Given the description of an element on the screen output the (x, y) to click on. 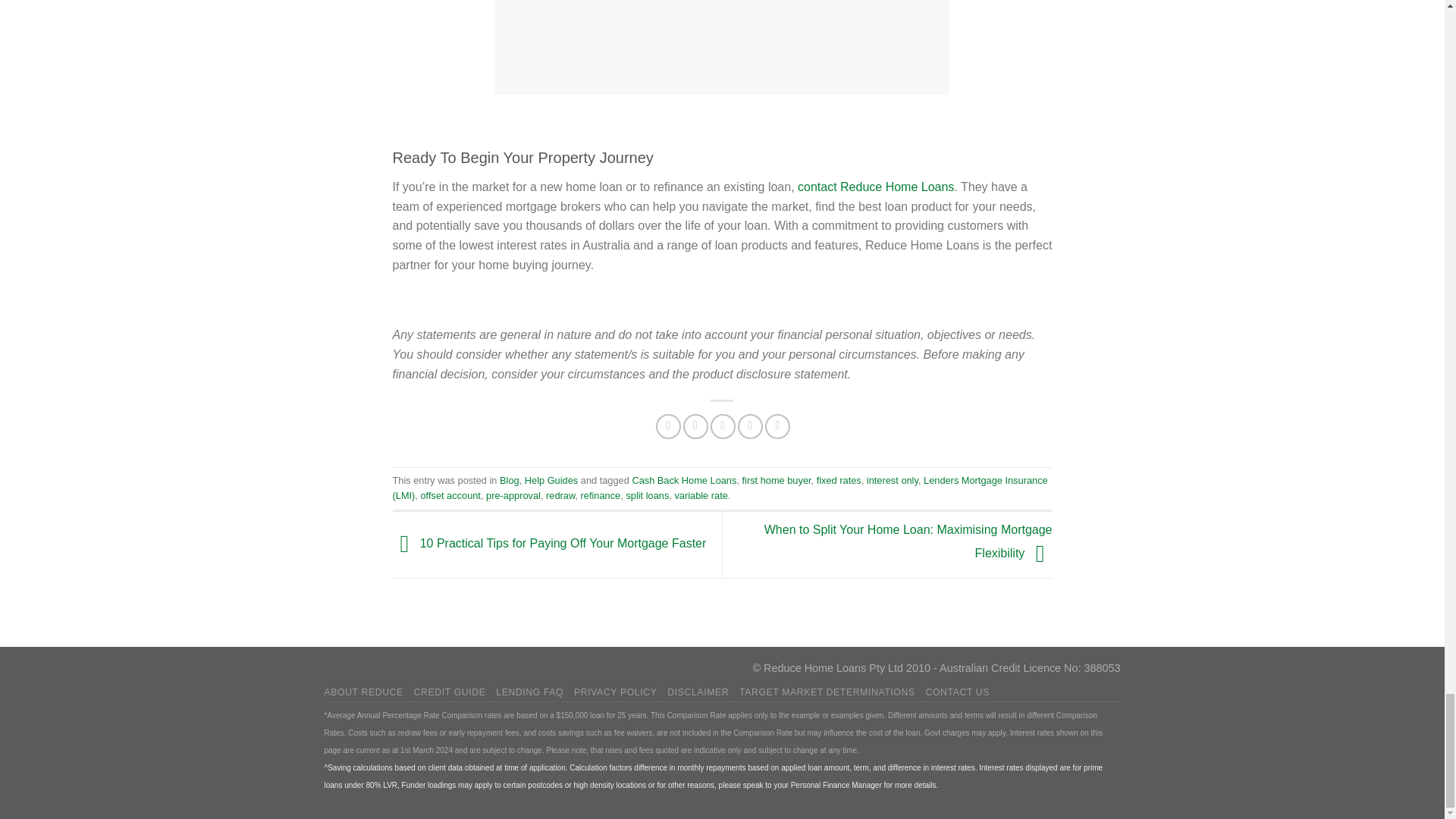
Email to a Friend (722, 426)
Share on Twitter (694, 426)
Pin on Pinterest (750, 426)
Share on LinkedIn (777, 426)
Share on Facebook (668, 426)
